Given the description of an element on the screen output the (x, y) to click on. 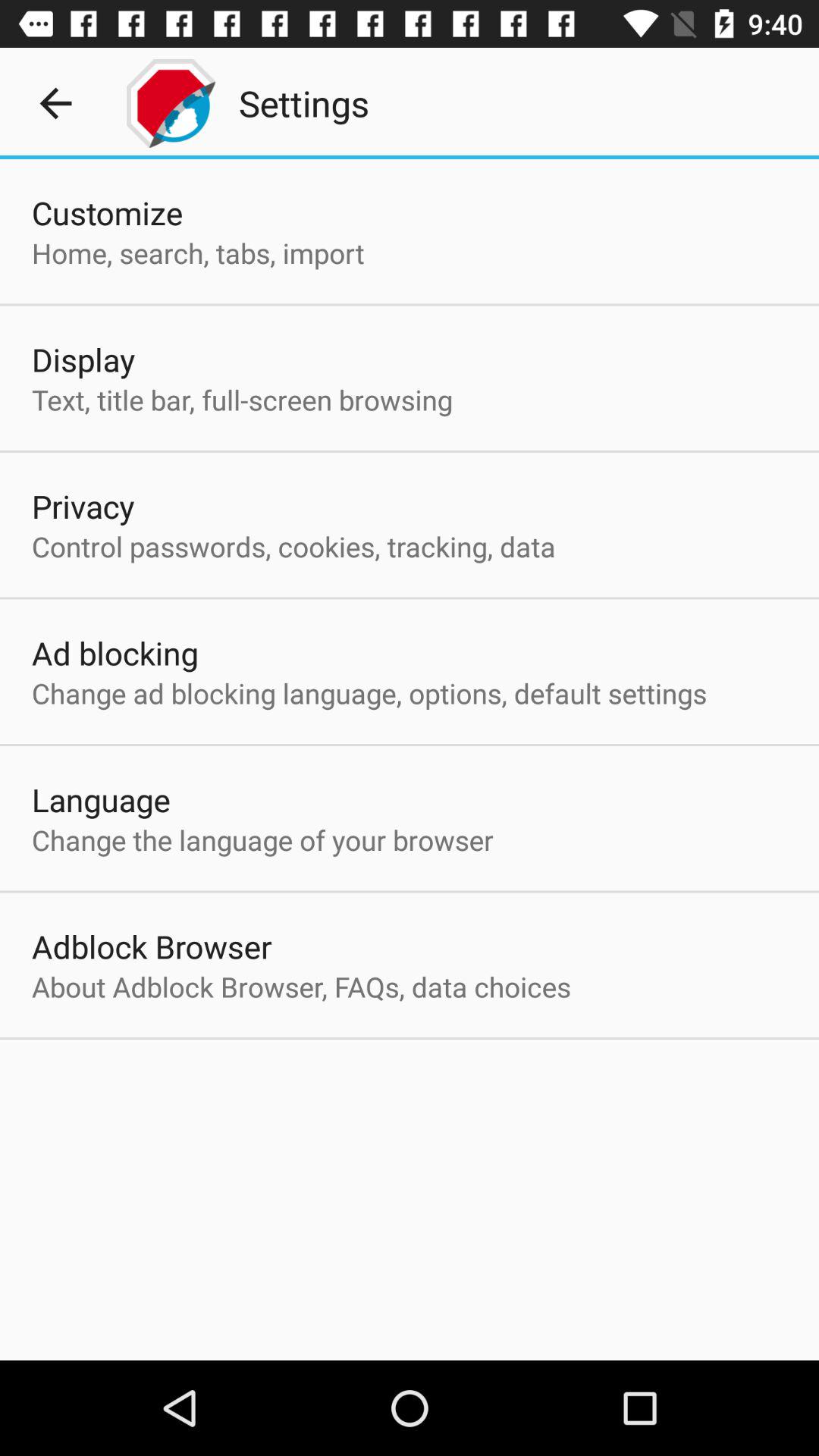
tap customize (107, 212)
